Given the description of an element on the screen output the (x, y) to click on. 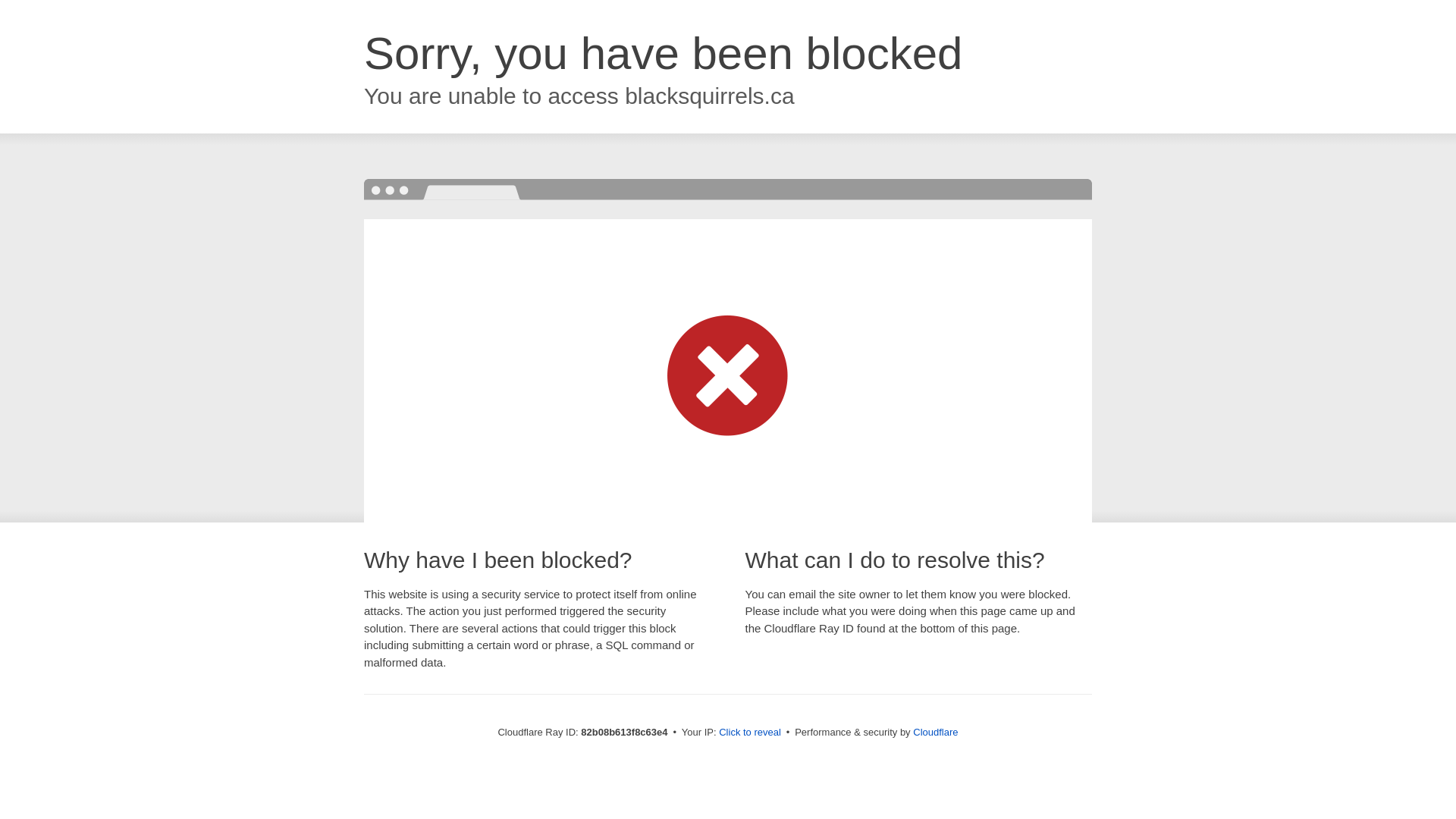
Cloudflare Element type: text (935, 731)
Click to reveal Element type: text (749, 732)
